Given the description of an element on the screen output the (x, y) to click on. 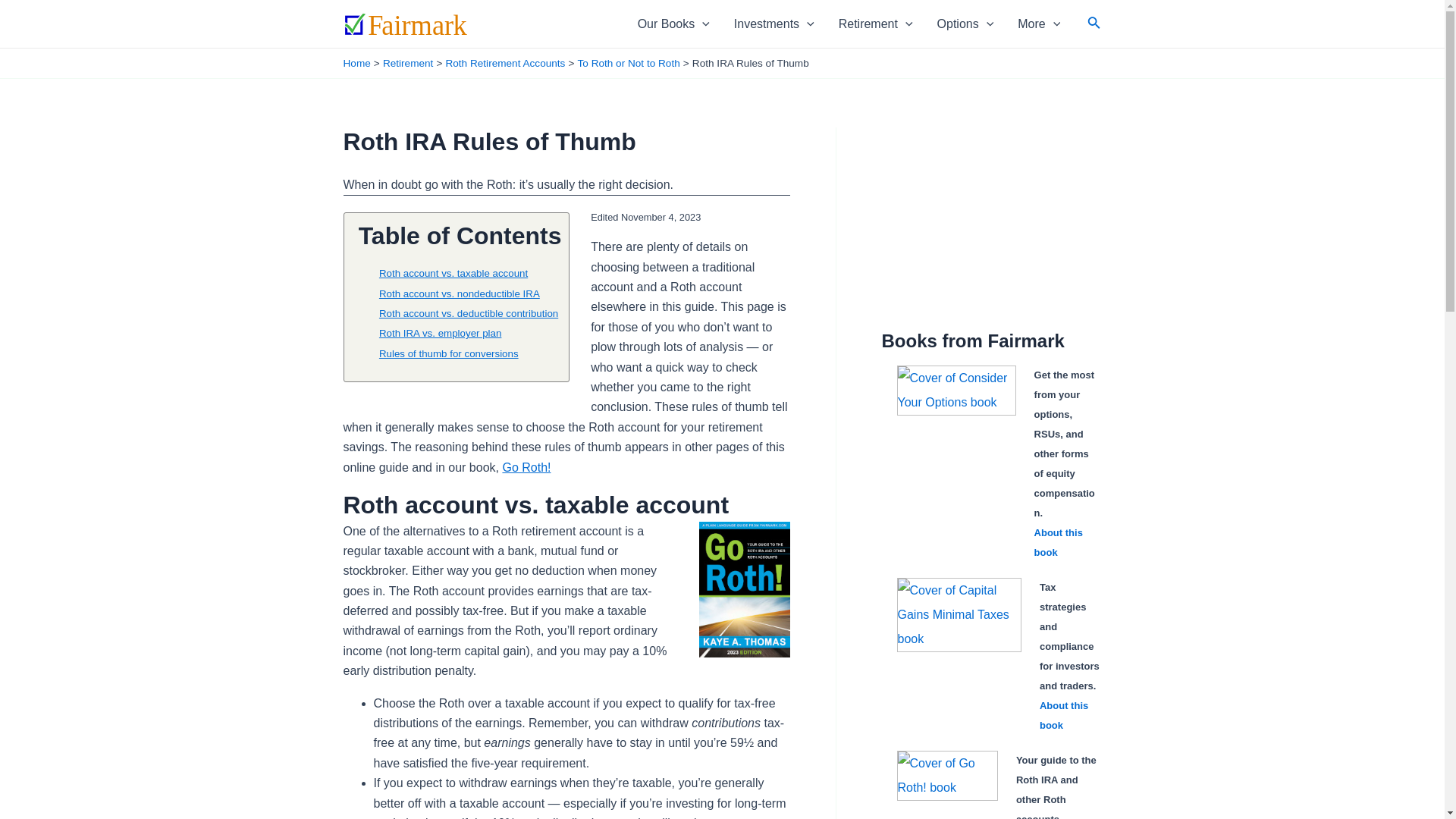
More (1038, 24)
Options (965, 24)
Investments (774, 24)
Retirement (875, 24)
Our Books (674, 24)
